Given the description of an element on the screen output the (x, y) to click on. 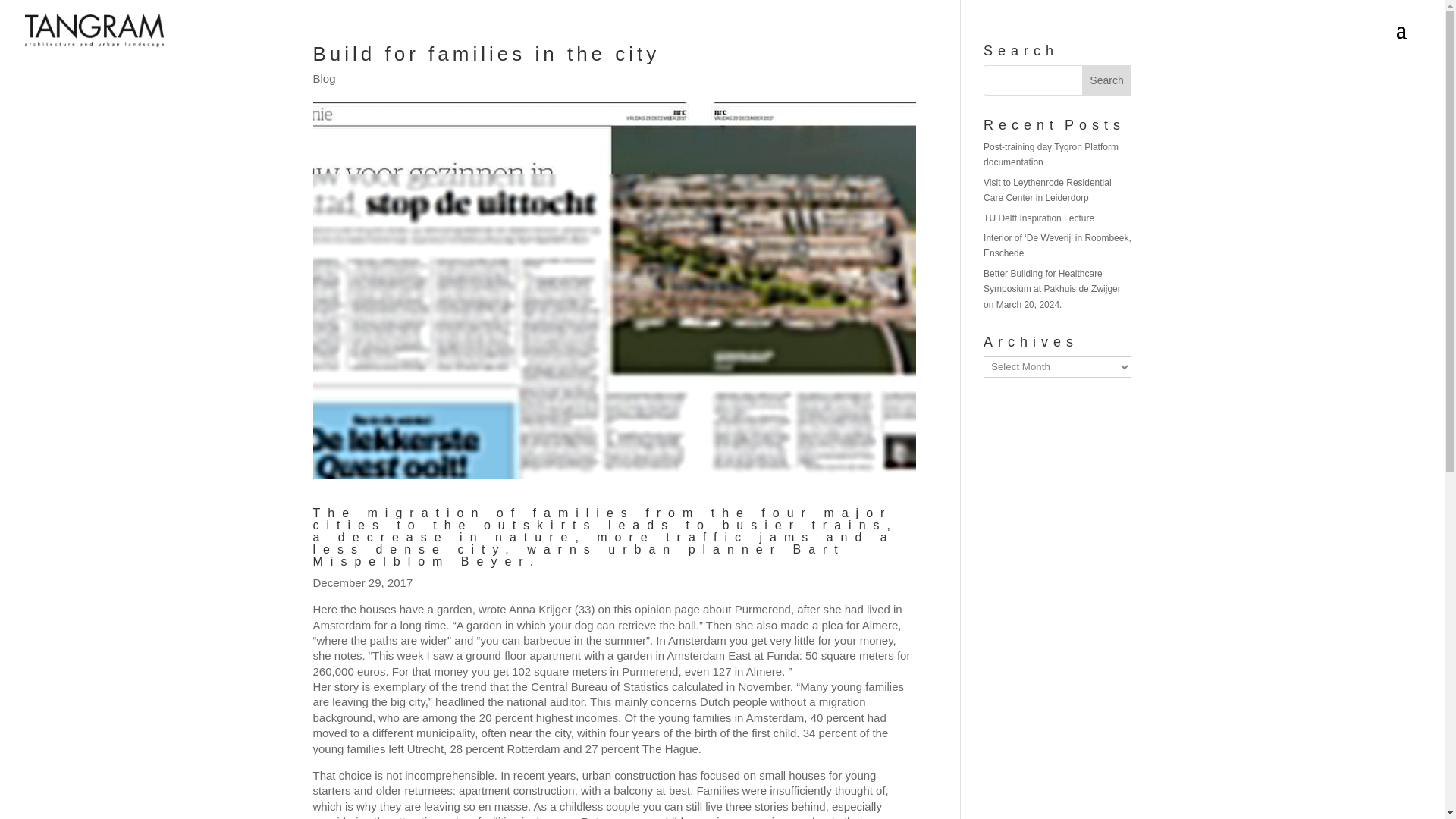
Post-training day Tygron Platform documentation (1051, 154)
Blog (323, 78)
Search (1106, 80)
Visit to Leythenrode Residential Care Center in Leiderdorp (1048, 190)
TU Delft Inspiration Lecture (1039, 217)
Search (1106, 80)
